Given the description of an element on the screen output the (x, y) to click on. 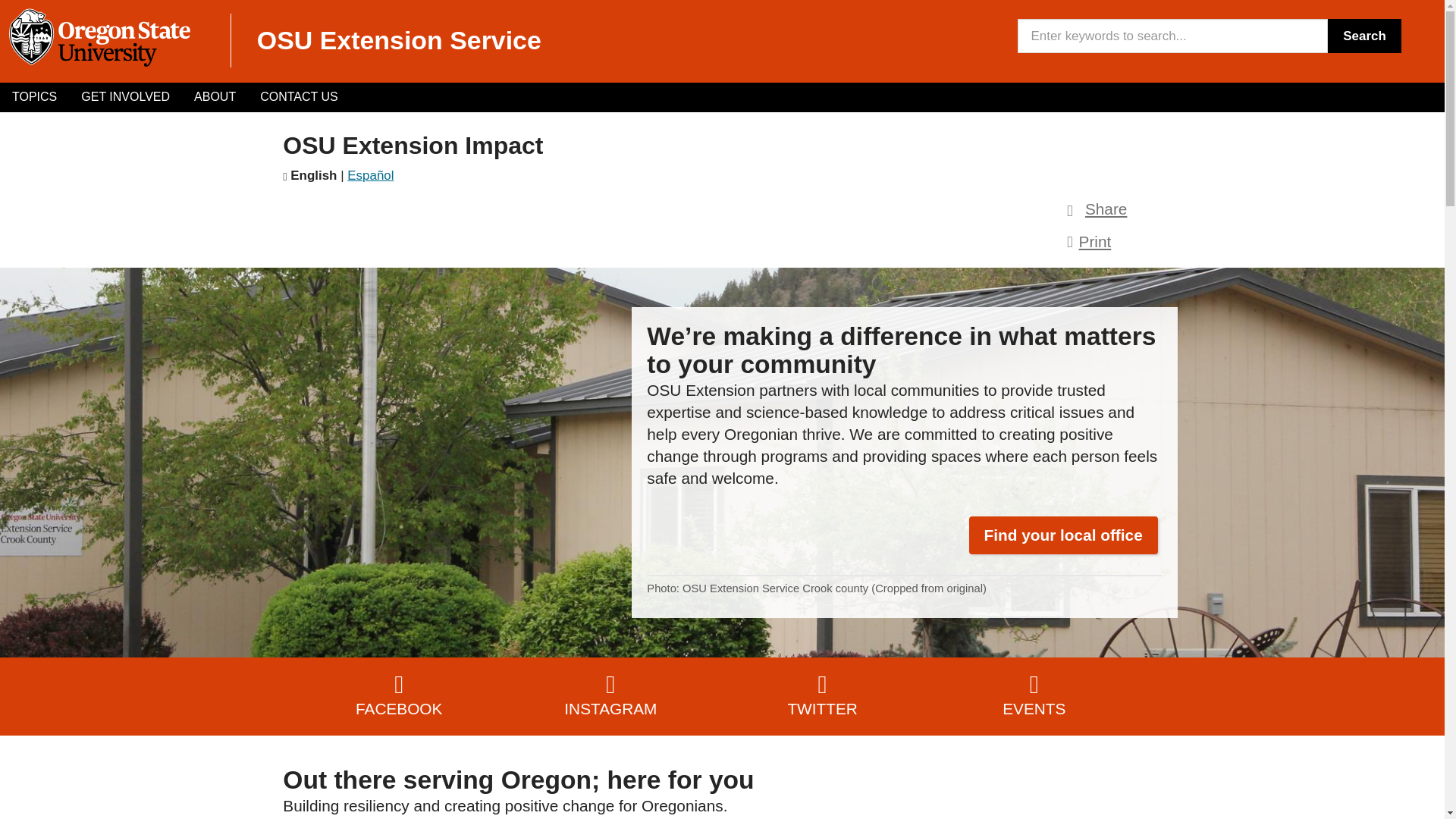
Enter keywords to search (1172, 35)
Search (1363, 35)
TOPICS (34, 96)
OSU Extension Service (399, 39)
